Given the description of an element on the screen output the (x, y) to click on. 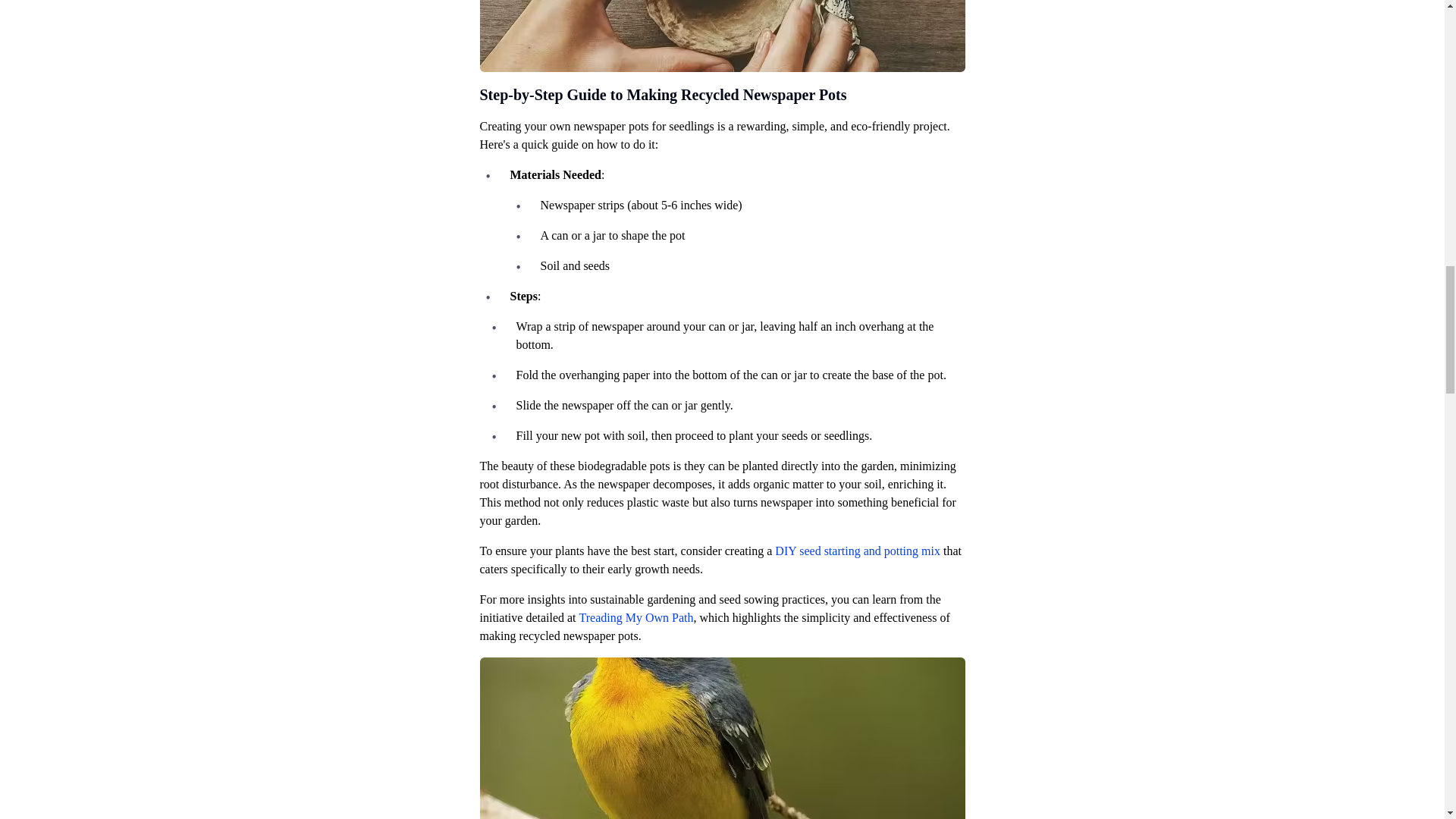
DIY seed starting and potting mix (857, 550)
Treading My Own Path (636, 617)
